Given the description of an element on the screen output the (x, y) to click on. 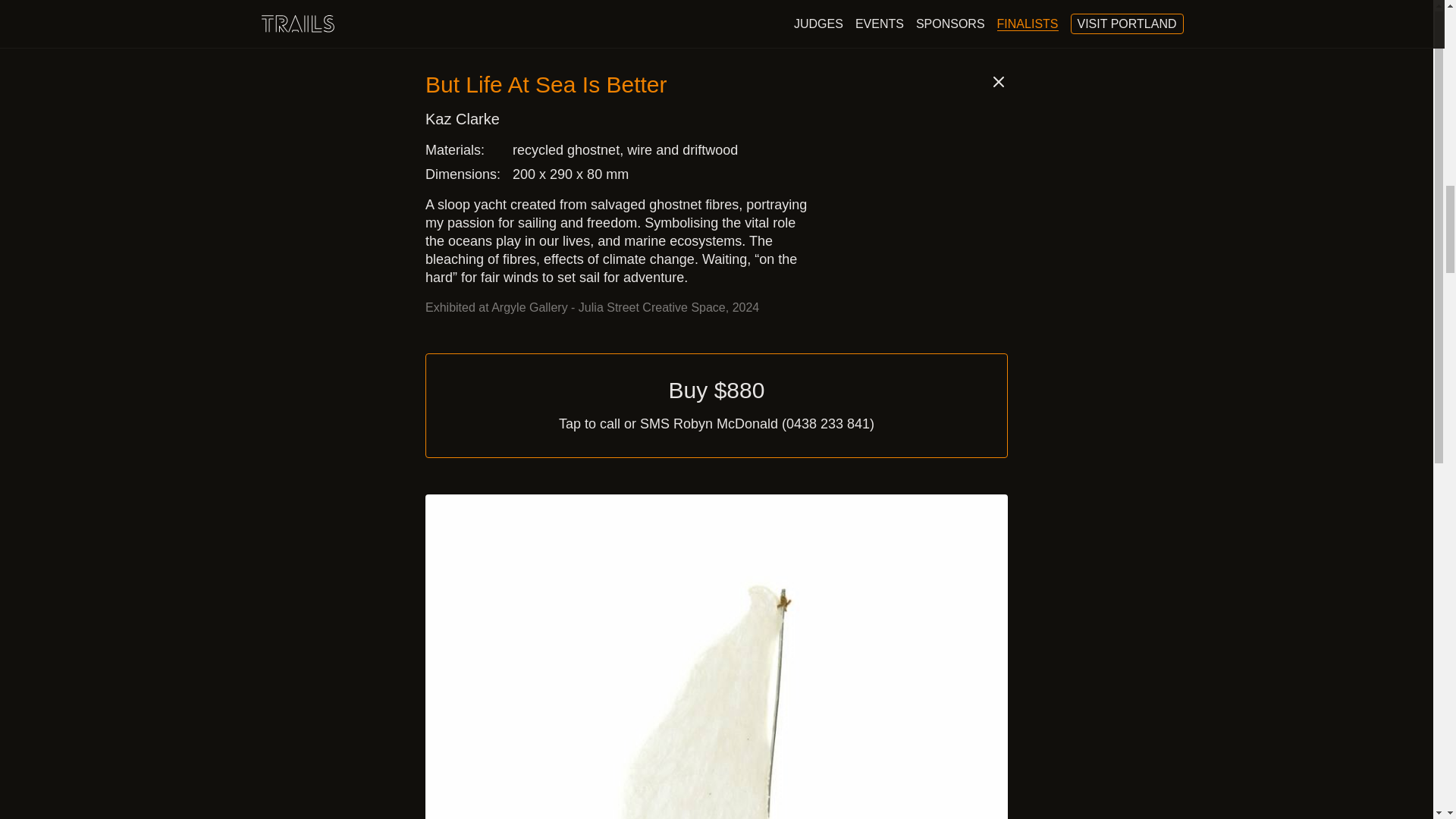
View Cutlery Fish details (985, 88)
View Caravan details (459, 88)
View Island series: Just Imagine details (459, 88)
View Liminal Spaces details (459, 680)
View Just when you thought you were safe details (985, 88)
